Given the description of an element on the screen output the (x, y) to click on. 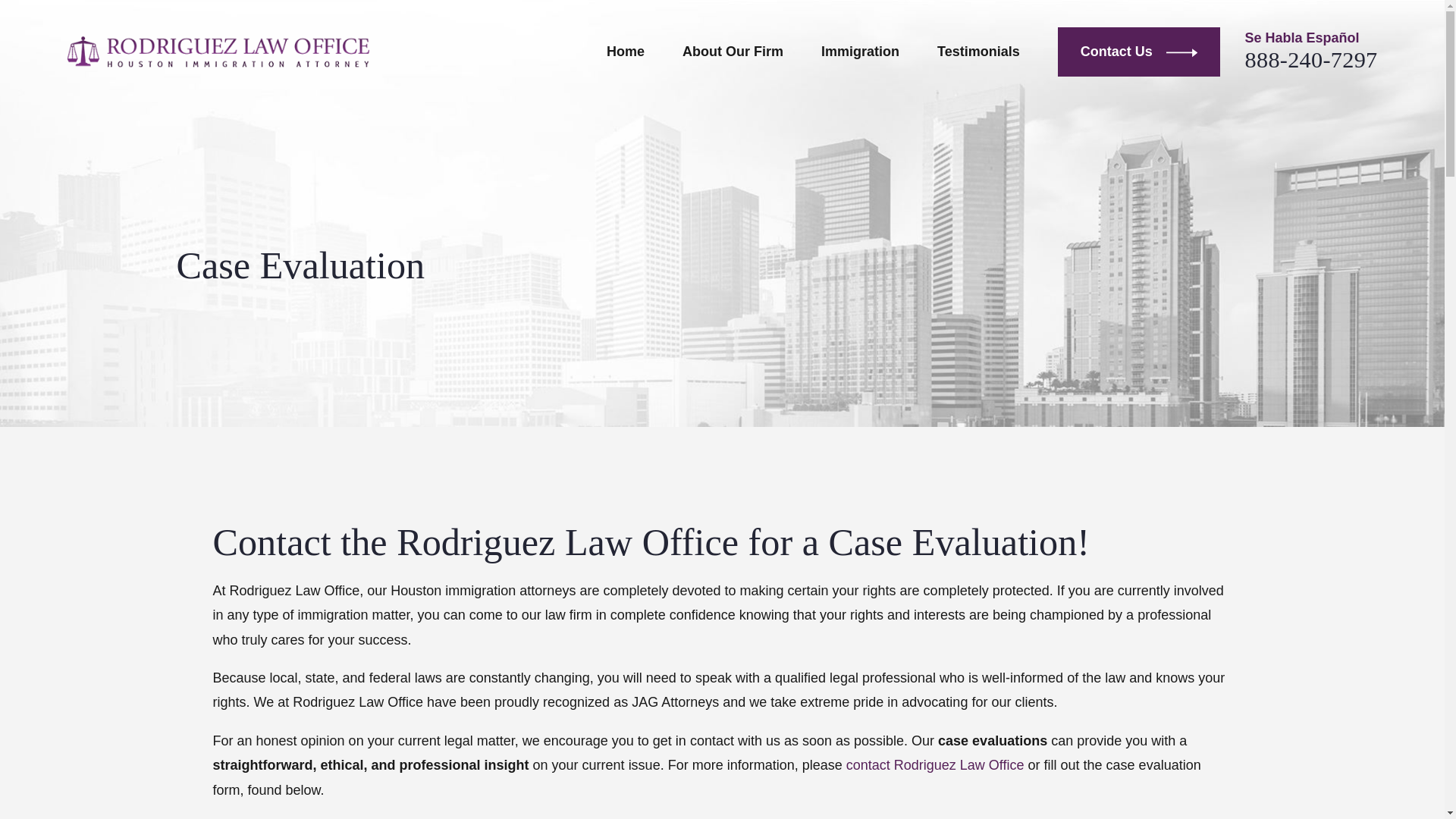
Immigration (860, 50)
Contact Us (1139, 51)
contact Rodriguez Law Office (935, 765)
888-240-7297 (1310, 59)
Testimonials (978, 50)
Home (217, 51)
About Our Firm (732, 50)
